Given the description of an element on the screen output the (x, y) to click on. 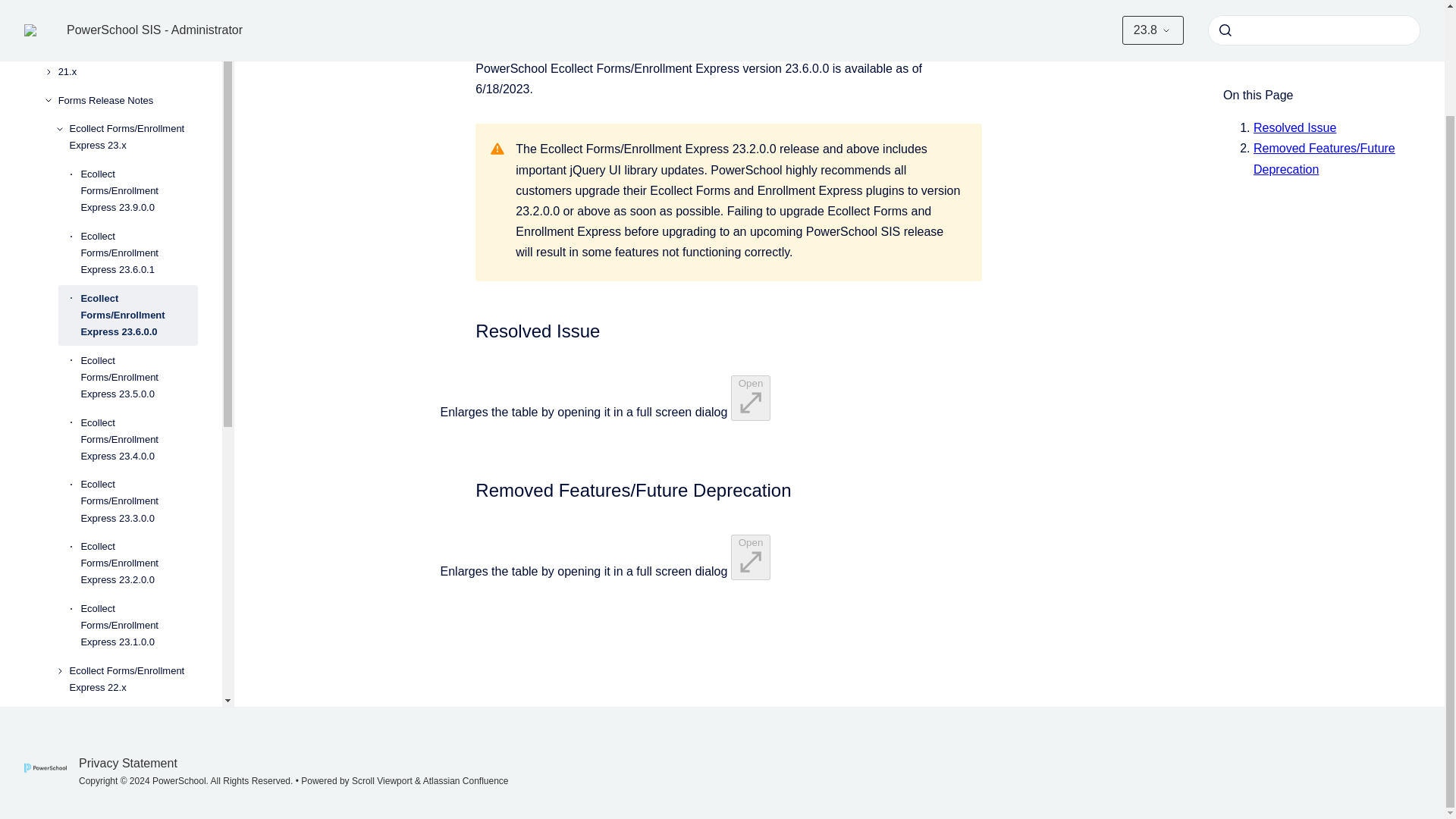
Get Started (122, 779)
21.x (128, 61)
Search the In-App Help (122, 750)
Forms Release Notes (128, 90)
22.x (128, 31)
23.x (128, 9)
